Given the description of an element on the screen output the (x, y) to click on. 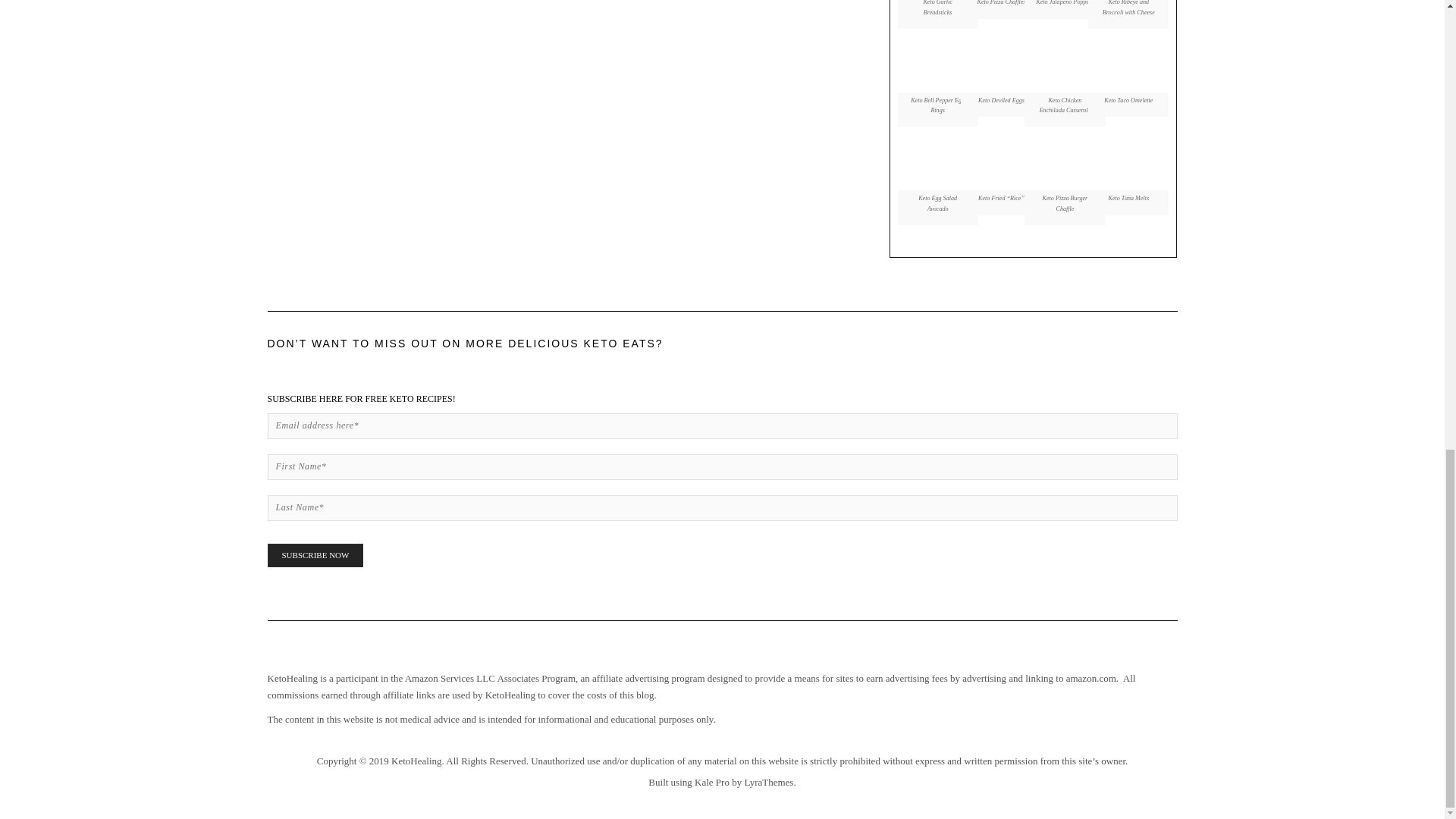
Subscribe now (314, 555)
